Given the description of an element on the screen output the (x, y) to click on. 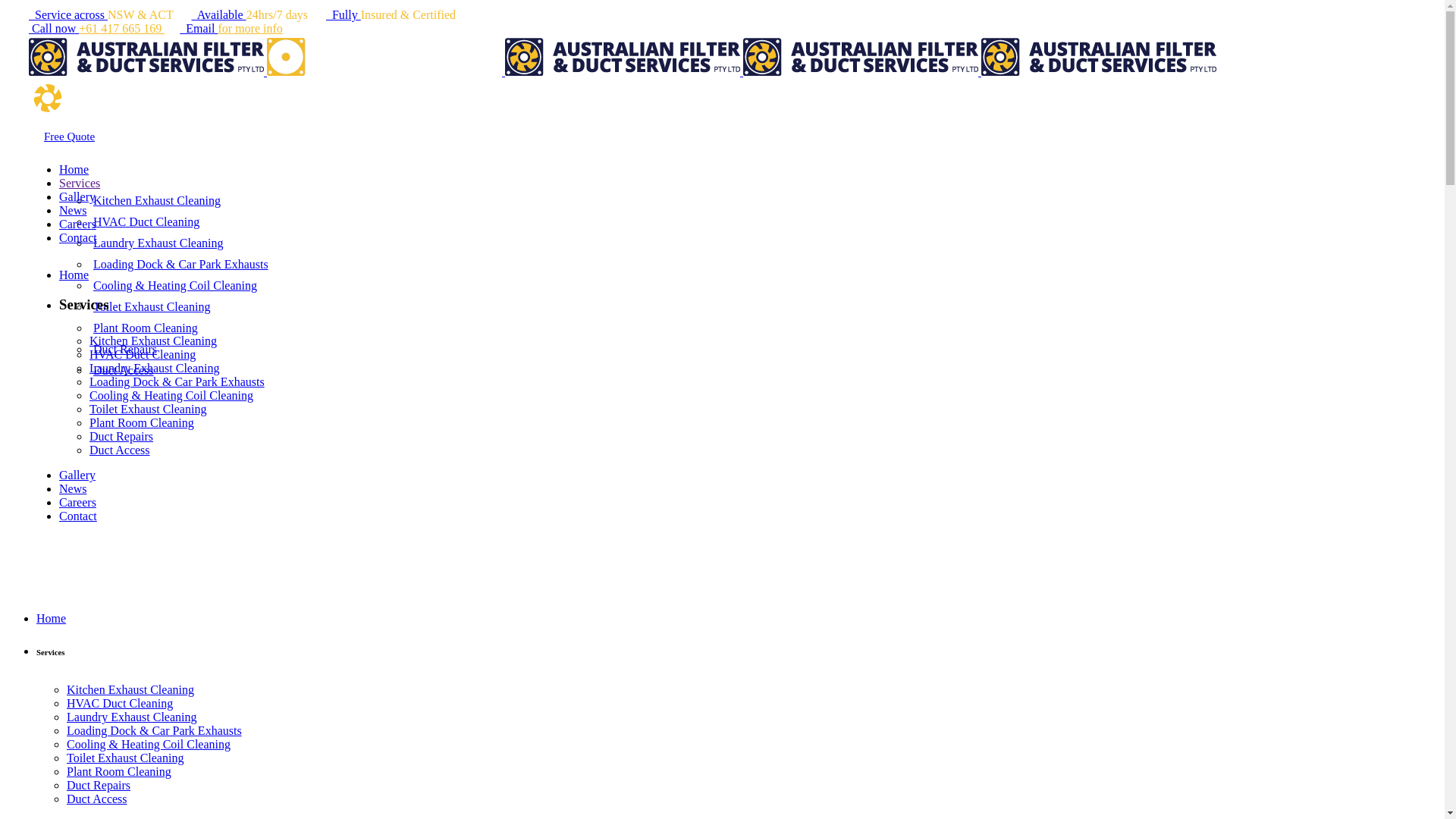
  Service across Element type: text (67, 14)
Laundry Exhaust Cleaning Element type: text (131, 716)
Gallery Element type: text (77, 196)
Duct Access Element type: text (119, 449)
Contact Element type: text (78, 237)
Free Quote Element type: text (68, 136)
Home Element type: text (50, 617)
Loading Dock & Car Park Exhausts Element type: text (153, 730)
Cooling & Heating Coil Cleaning Element type: text (148, 743)
Careers Element type: text (77, 223)
24hrs/7 days Element type: text (286, 14)
  Available Element type: text (218, 14)
  Fully Element type: text (343, 14)
Home Element type: text (73, 169)
Home Element type: text (73, 274)
Plant Room Cleaning Element type: text (141, 422)
Cooling & Heating Coil Cleaning Element type: text (175, 285)
 Call now Element type: text (53, 27)
Toilet Exhaust Cleaning Element type: text (124, 757)
Plant Room Cleaning Element type: text (118, 771)
Services Element type: text (79, 182)
HVAC Duct Cleaning Element type: text (146, 221)
Insured & Certified Element type: text (415, 14)
Kitchen Exhaust Cleaning Element type: text (130, 689)
Loading Dock & Car Park Exhausts Element type: text (180, 263)
Duct Repairs Element type: text (121, 435)
  Email Element type: text (198, 27)
Duct Access Element type: text (96, 798)
News Element type: text (72, 488)
Duct Repairs Element type: text (124, 348)
Laundry Exhaust Cleaning Element type: text (158, 242)
Contact Element type: text (78, 515)
Toilet Exhaust Cleaning Element type: text (147, 408)
for more info Element type: text (249, 27)
Duct Repairs Element type: text (98, 784)
Careers Element type: text (77, 501)
Cooling & Heating Coil Cleaning Element type: text (171, 395)
News Element type: text (72, 209)
Toilet Exhaust Cleaning Element type: text (151, 306)
Loading Dock & Car Park Exhausts Element type: text (176, 381)
HVAC Duct Cleaning Element type: text (119, 702)
Duct Access Element type: text (123, 370)
Kitchen Exhaust Cleaning Element type: text (152, 340)
Laundry Exhaust Cleaning Element type: text (154, 367)
Kitchen Exhaust Cleaning Element type: text (156, 200)
+61 417 665 169 Element type: text (128, 27)
Plant Room Cleaning Element type: text (145, 327)
Gallery Element type: text (77, 474)
NSW & ACT Element type: text (149, 14)
HVAC Duct Cleaning Element type: text (142, 354)
